Given the description of an element on the screen output the (x, y) to click on. 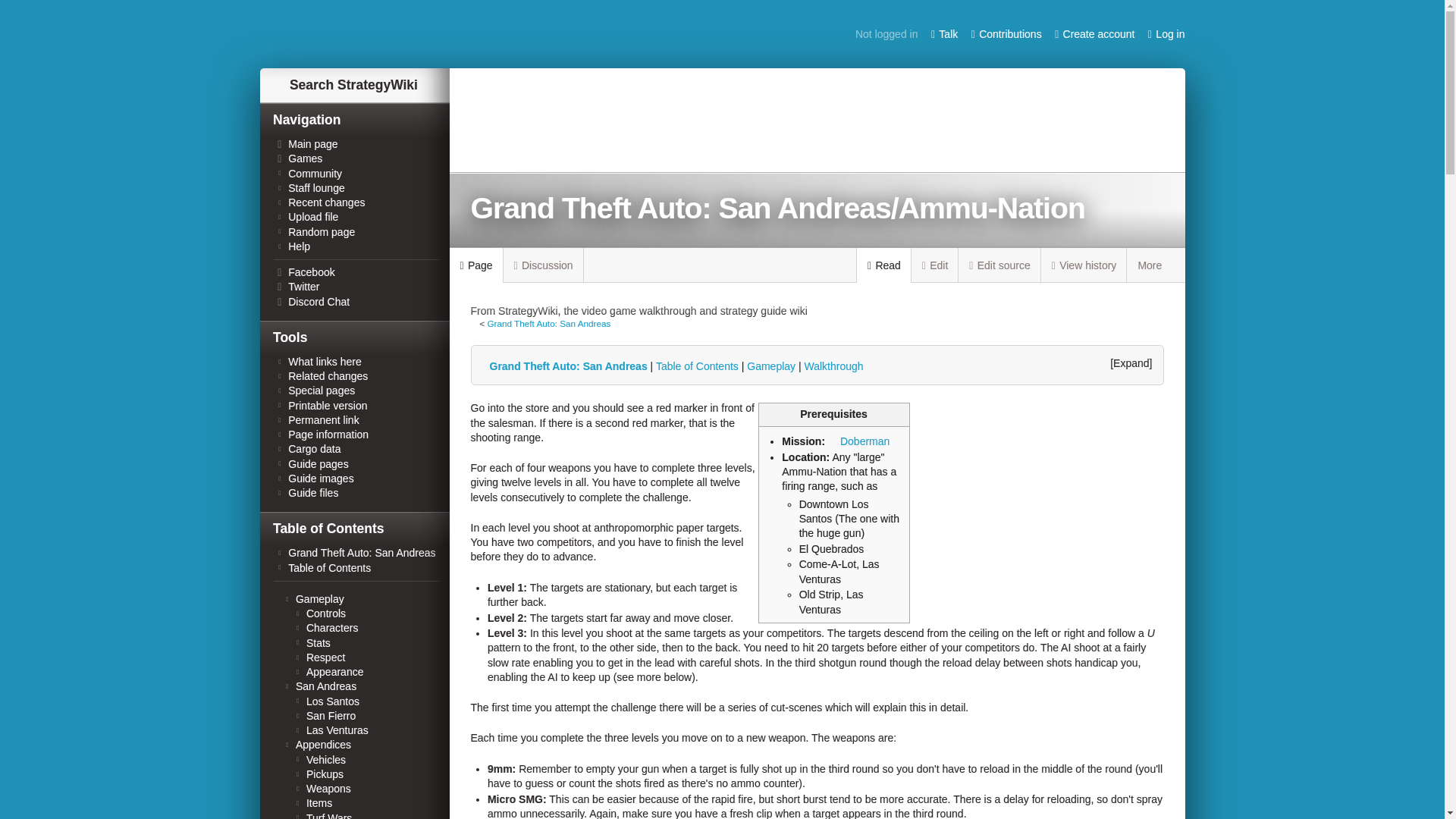
More options (1155, 265)
Gameplay (770, 366)
Grand Theft Auto: San Andreas (566, 366)
Read (884, 265)
Walkthrough (833, 366)
Grand Theft Auto: San Andreas (548, 323)
Discussion (543, 264)
Edit (935, 264)
Grand Theft Auto: San Andreas (548, 323)
